Given the description of an element on the screen output the (x, y) to click on. 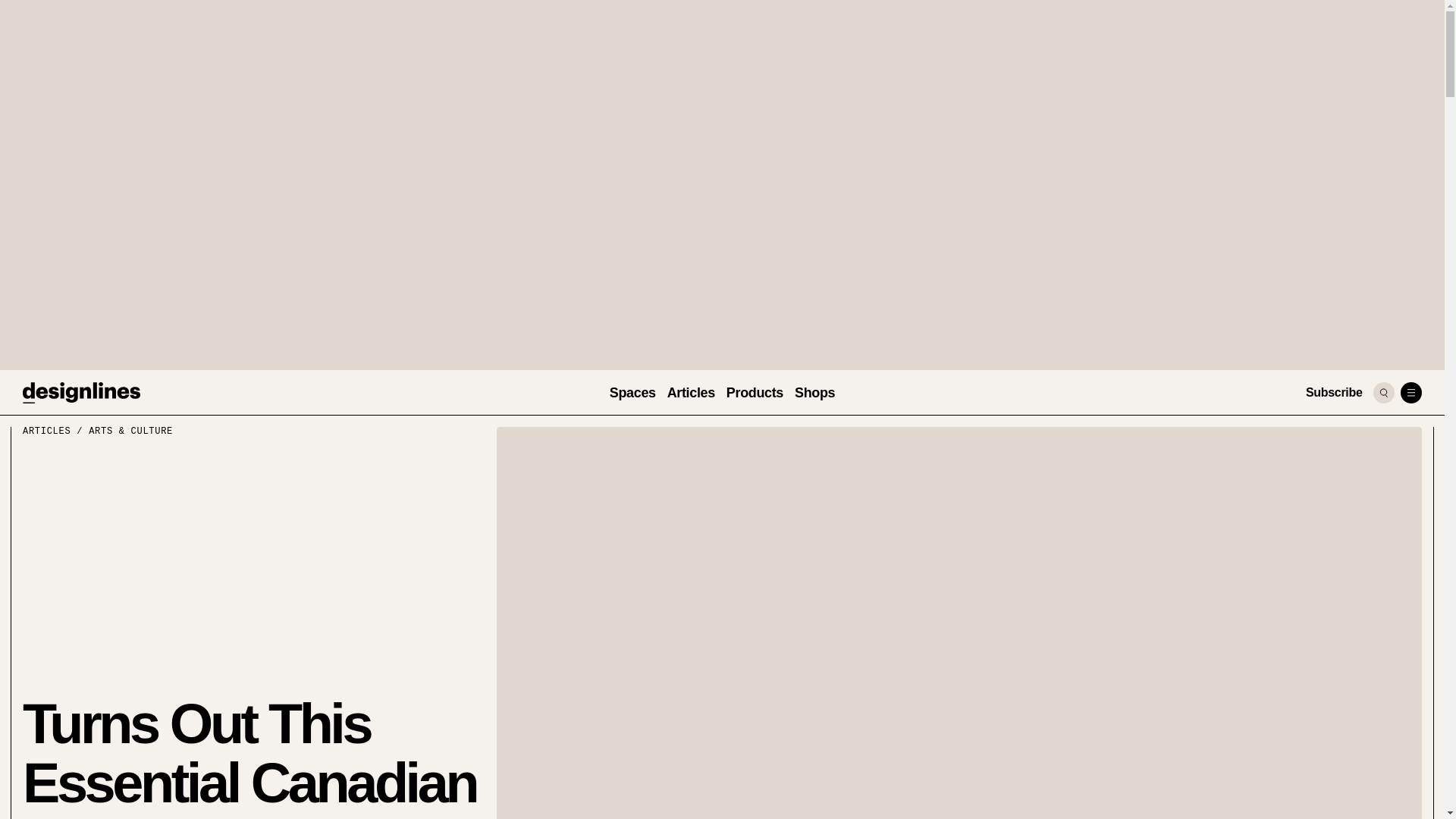
Articles (690, 392)
Designlines Magazine (81, 392)
Spaces (633, 392)
